Given the description of an element on the screen output the (x, y) to click on. 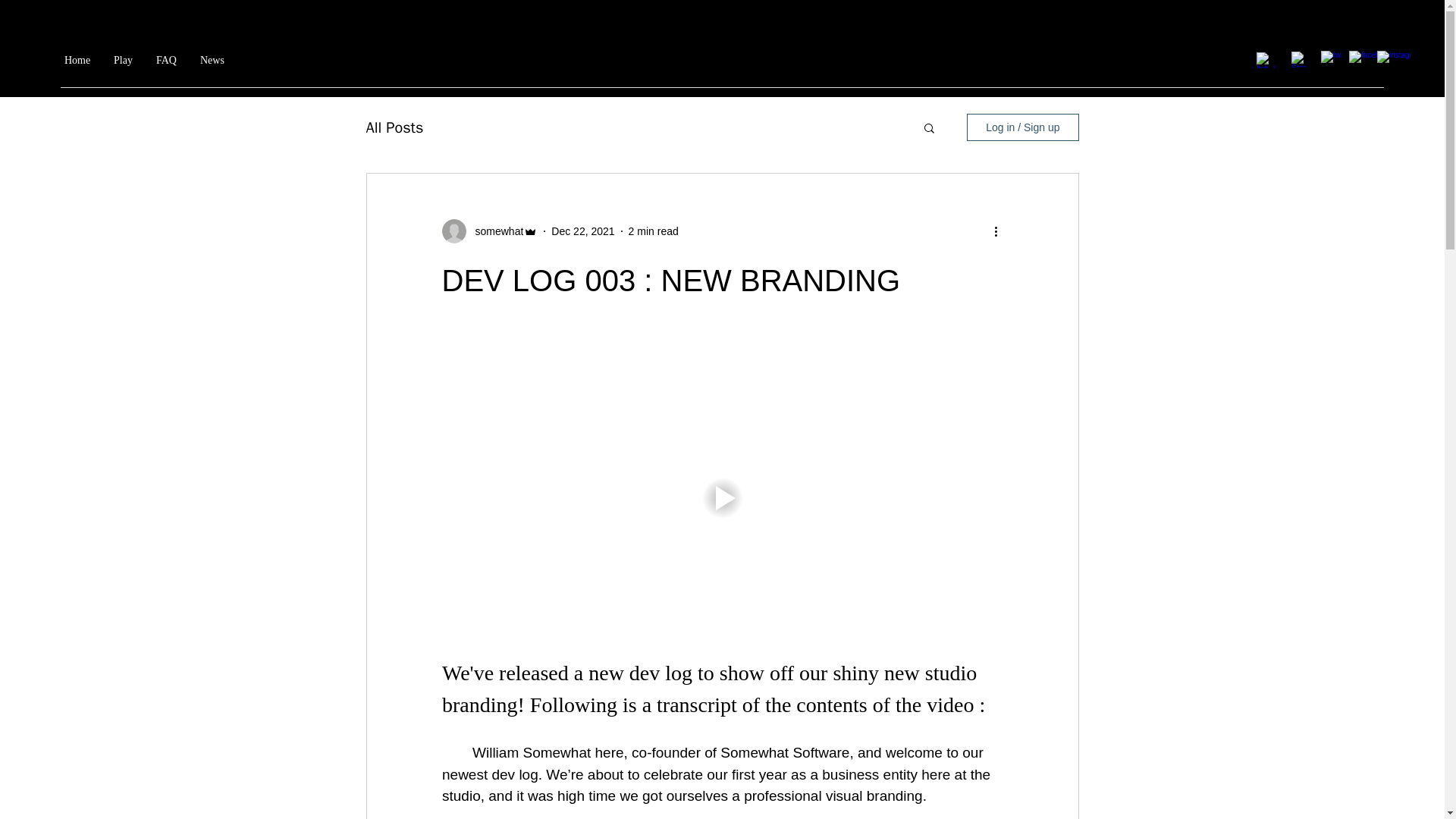
Dec 22, 2021 (582, 230)
FAQ (165, 60)
Home (76, 60)
2 min read (653, 230)
News (212, 60)
All Posts (394, 127)
Play (122, 60)
somewhat (493, 230)
